Given the description of an element on the screen output the (x, y) to click on. 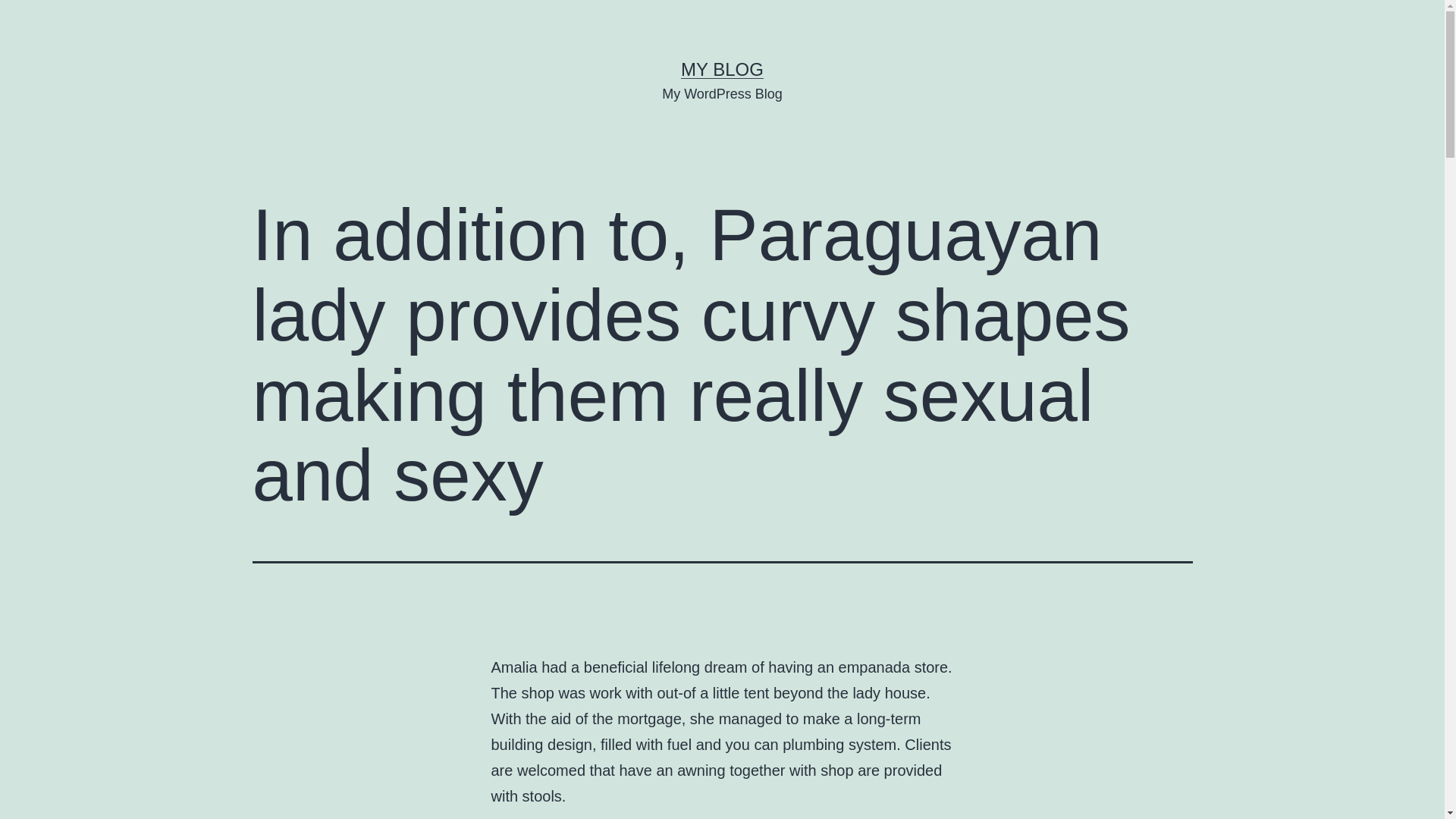
MY BLOG (721, 68)
